Given the description of an element on the screen output the (x, y) to click on. 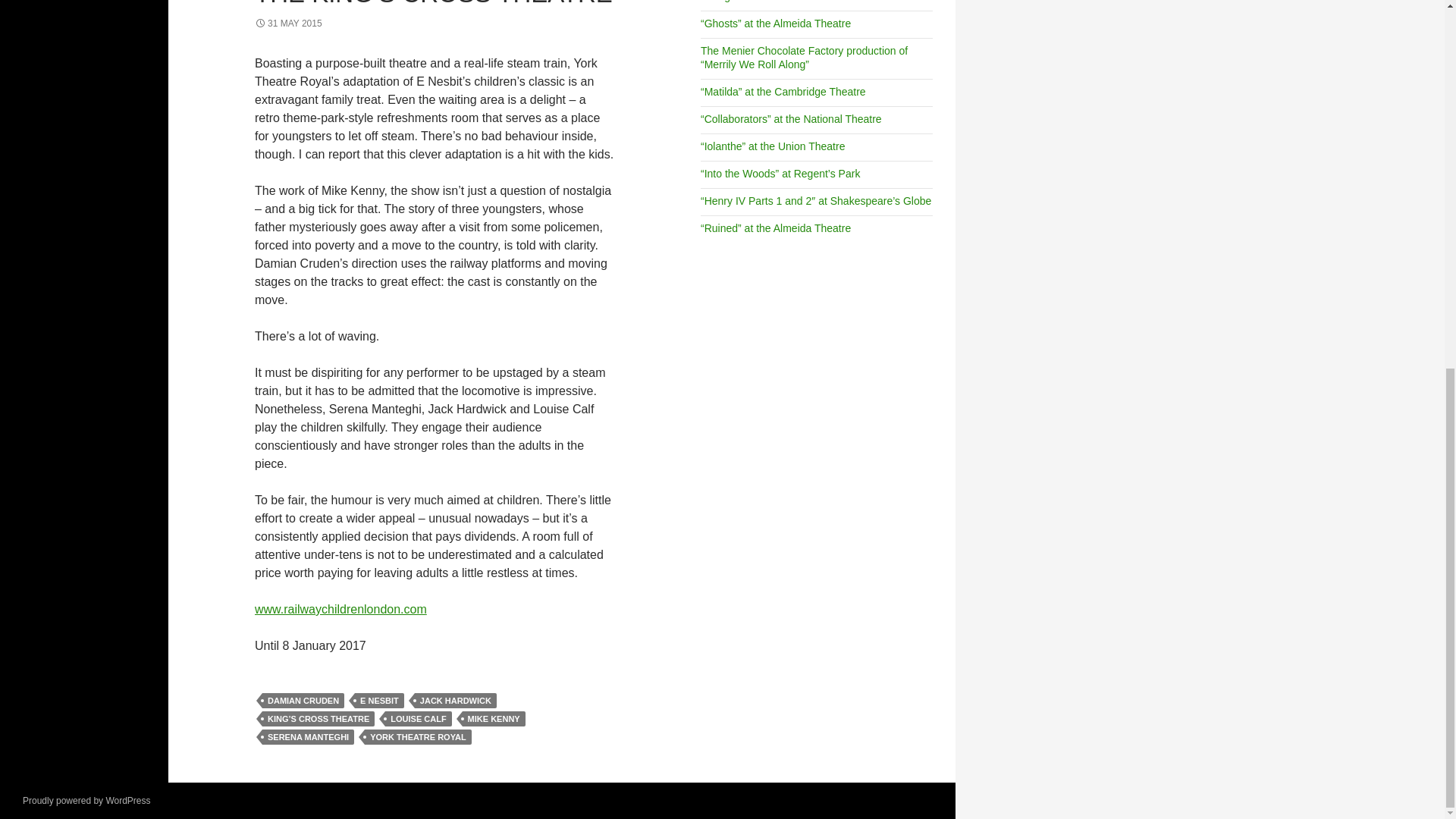
www.railwaychildrenlondon.com (340, 608)
31 MAY 2015 (287, 23)
DAMIAN CRUDEN (302, 700)
MIKE KENNY (494, 718)
SERENA MANTEGHI (307, 736)
Proudly powered by WordPress (87, 800)
LOUISE CALF (418, 718)
E NESBIT (379, 700)
YORK THEATRE ROYAL (418, 736)
JACK HARDWICK (455, 700)
